Given the description of an element on the screen output the (x, y) to click on. 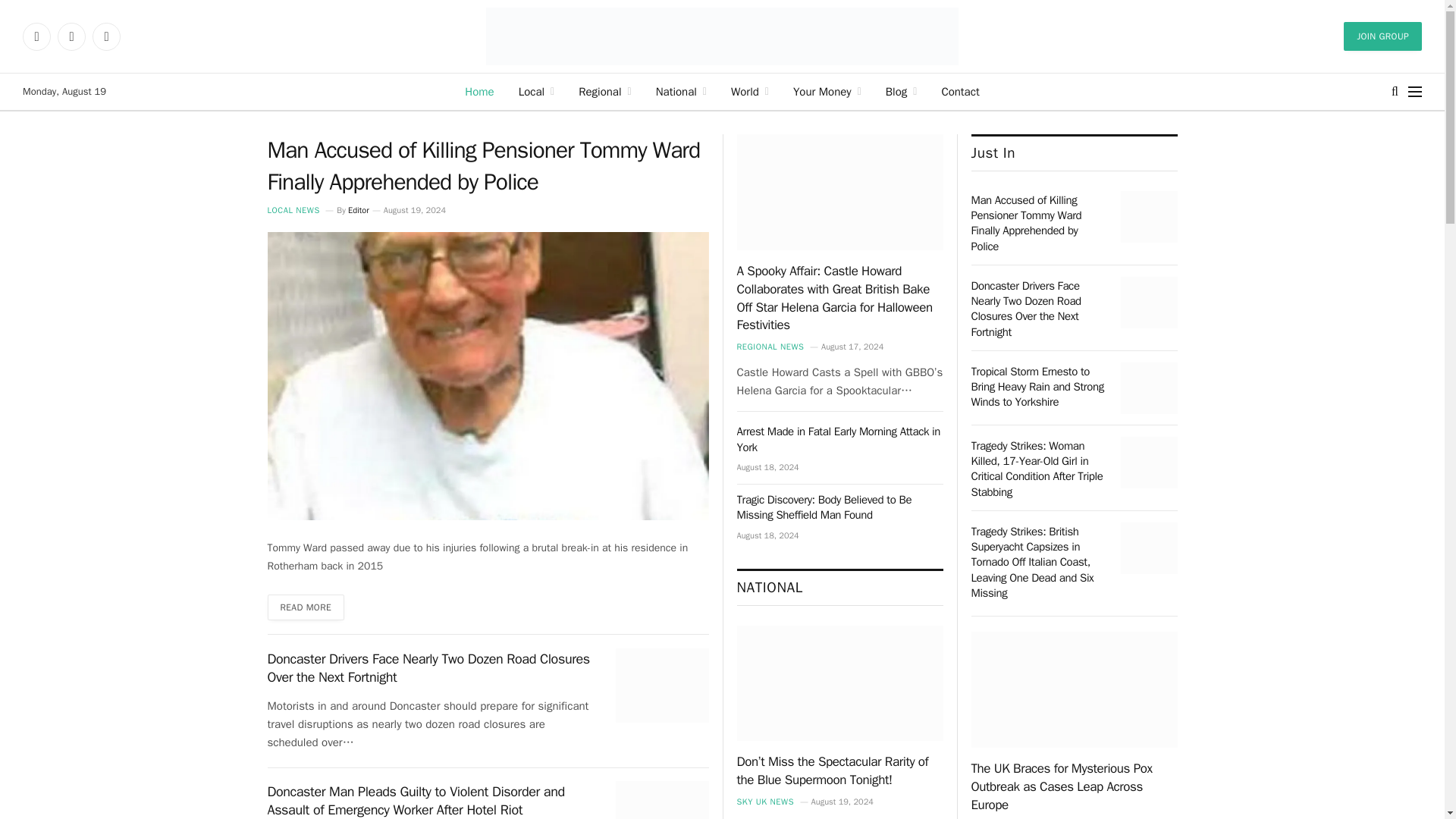
Local (536, 91)
Regional (604, 91)
The South Yorkshire Scoop (722, 36)
TikTok (106, 36)
Facebook (36, 36)
Home (478, 91)
National (681, 91)
JOIN GROUP (1382, 36)
Instagram (71, 36)
